Given the description of an element on the screen output the (x, y) to click on. 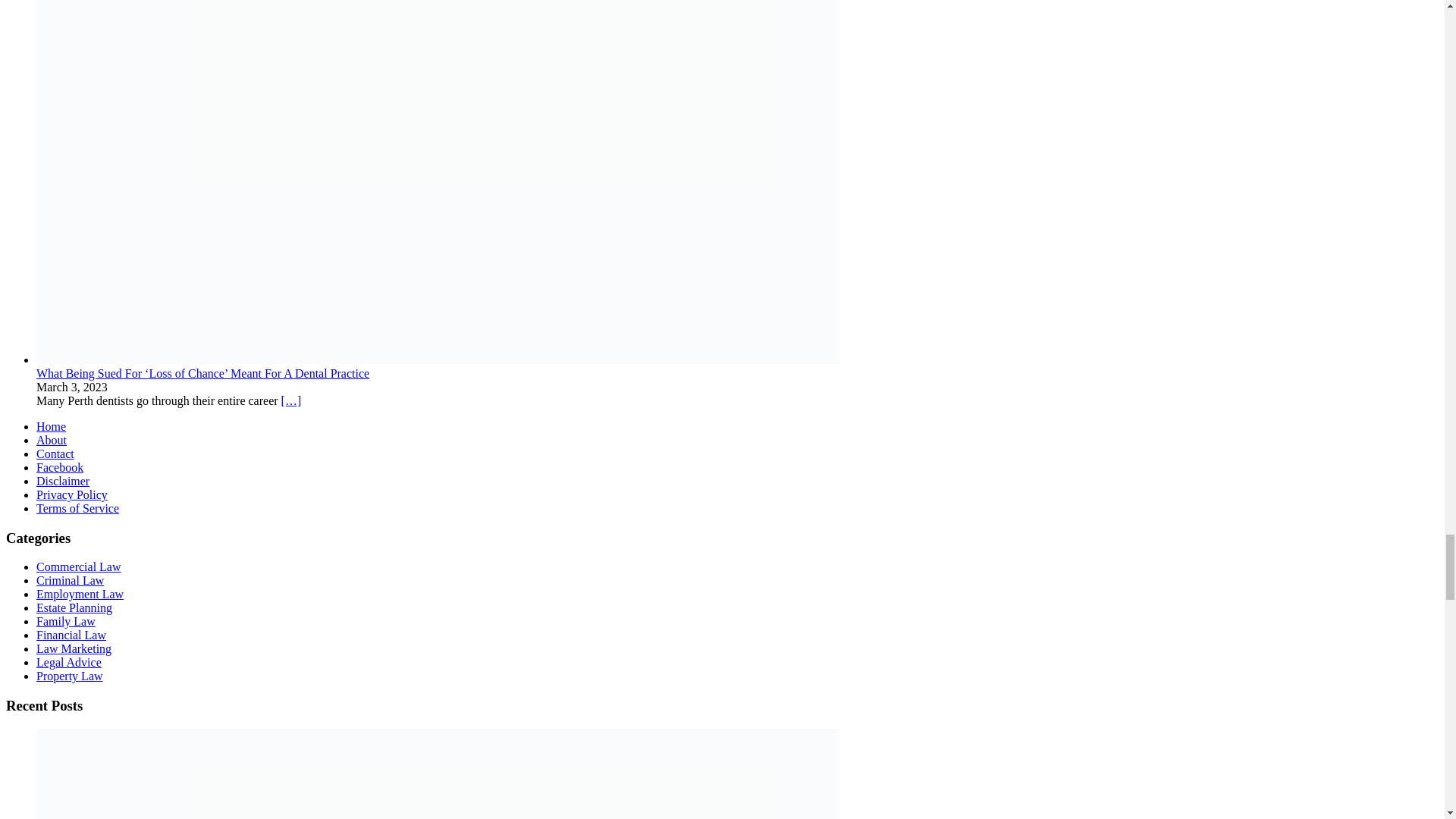
Contact (55, 453)
Privacy Policy (71, 494)
About (51, 440)
Home (50, 426)
Terms of Service (77, 508)
Facebook (59, 467)
Disclaimer (62, 481)
